Given the description of an element on the screen output the (x, y) to click on. 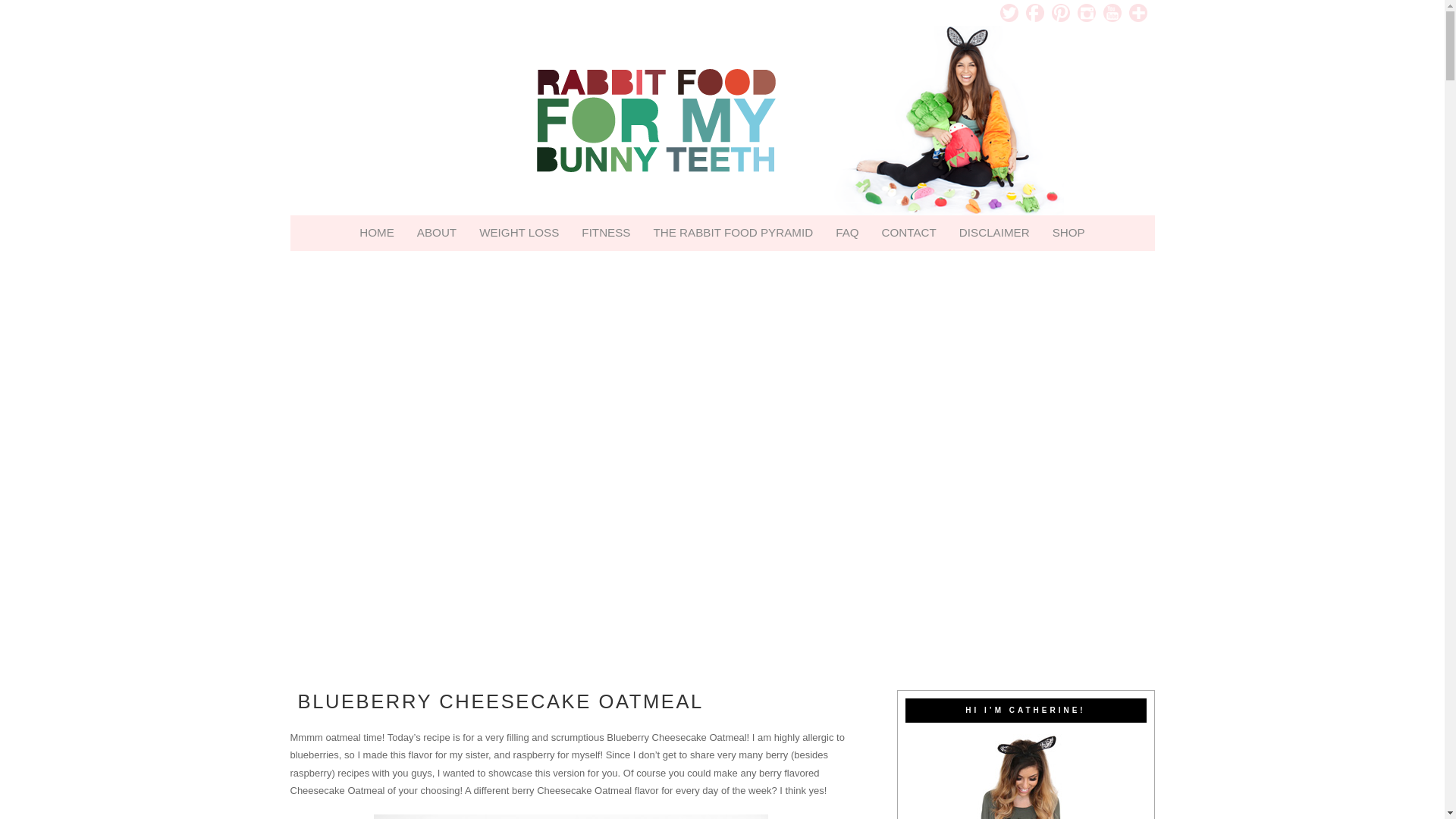
HOME (376, 232)
Twitter (1007, 13)
Blueberry Cheesecake Oatmeal (499, 701)
FAQ (846, 232)
WEIGHT LOSS (518, 232)
SHOP (1068, 232)
Eat More Rabbit Food (721, 120)
ABOUT (436, 232)
Blueberry Cheesecake Oatmeal (569, 816)
CONTACT (908, 232)
THE RABBIT FOOD PYRAMID (733, 232)
BLUEBERRY CHEESECAKE OATMEAL (499, 701)
FITNESS (606, 232)
Bloglovin (1137, 13)
DISCLAIMER (994, 232)
